Given the description of an element on the screen output the (x, y) to click on. 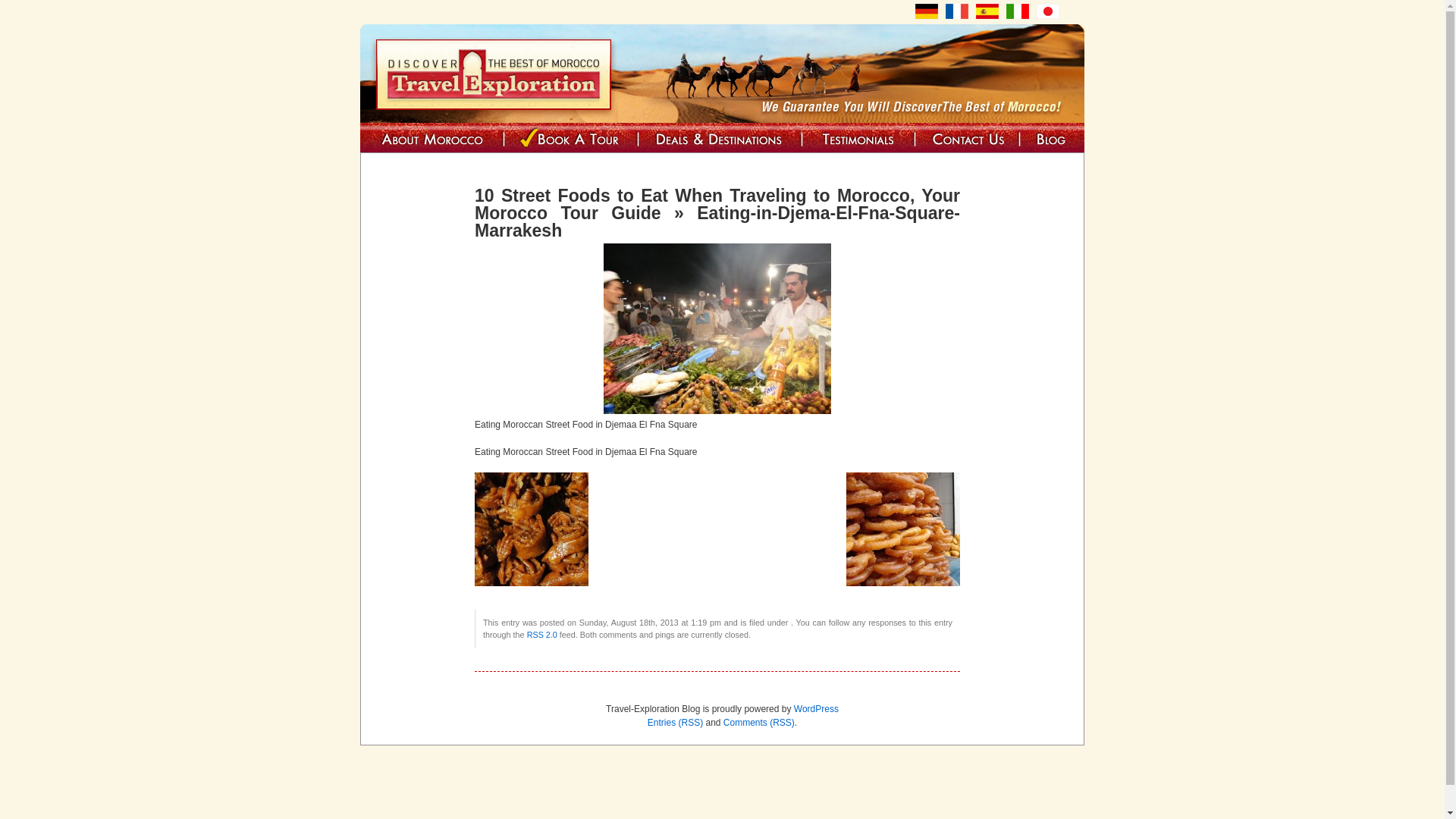
RSS 2.0 (542, 634)
